Given the description of an element on the screen output the (x, y) to click on. 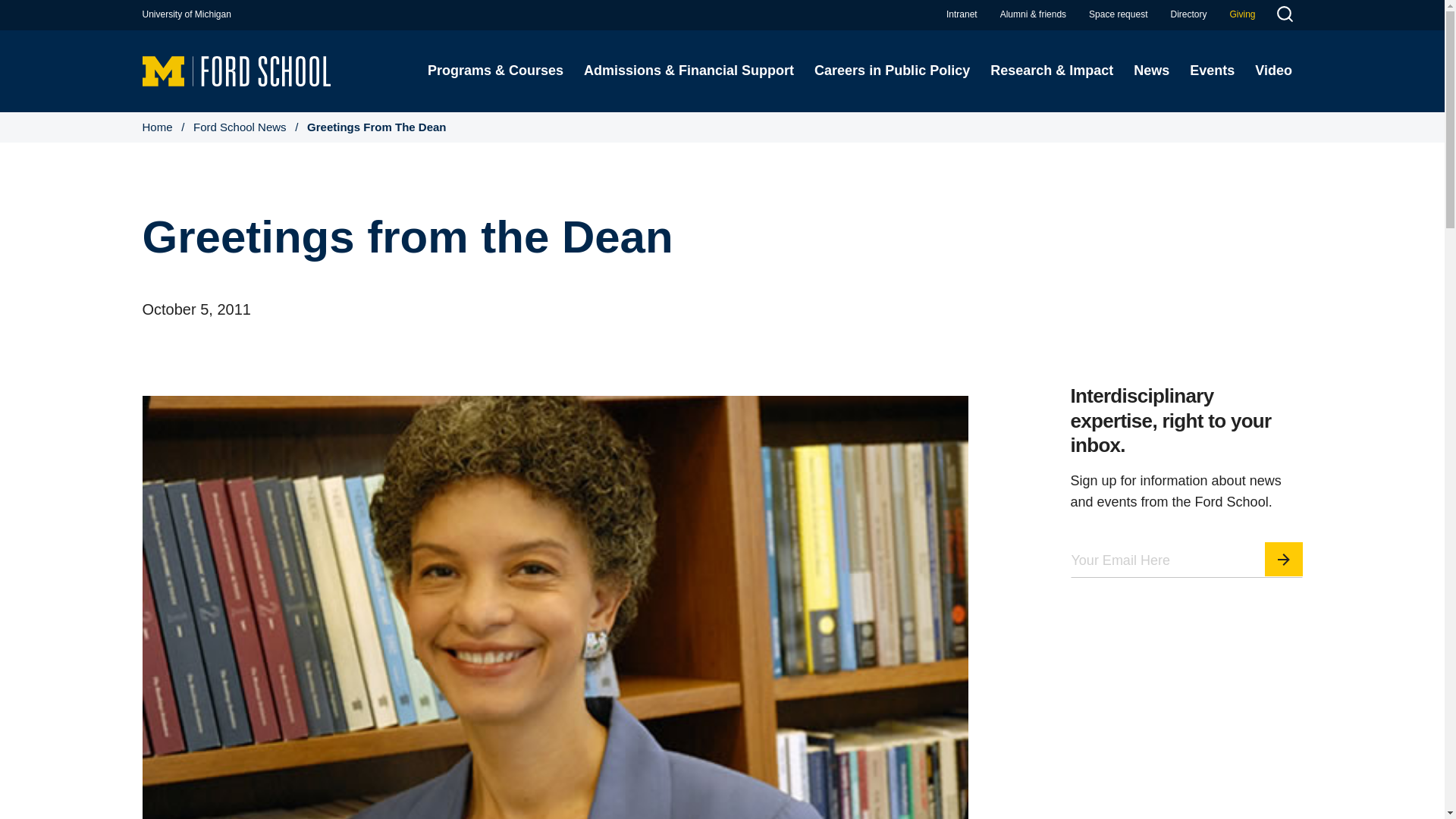
Giving (1241, 14)
Space request (1118, 14)
Intranet (961, 14)
Ford School faculty, staff, and student contacts (1188, 14)
Give to the Ford School (1241, 14)
A connected community to each other, and to the world (1032, 14)
Home (236, 69)
University of Michigan (186, 14)
Learn more about our facilities and how to reserve them (1118, 14)
Search Toggle (1283, 15)
Directory (1188, 14)
Ford School academic program and course information (494, 71)
Subscribe (1284, 559)
